Given the description of an element on the screen output the (x, y) to click on. 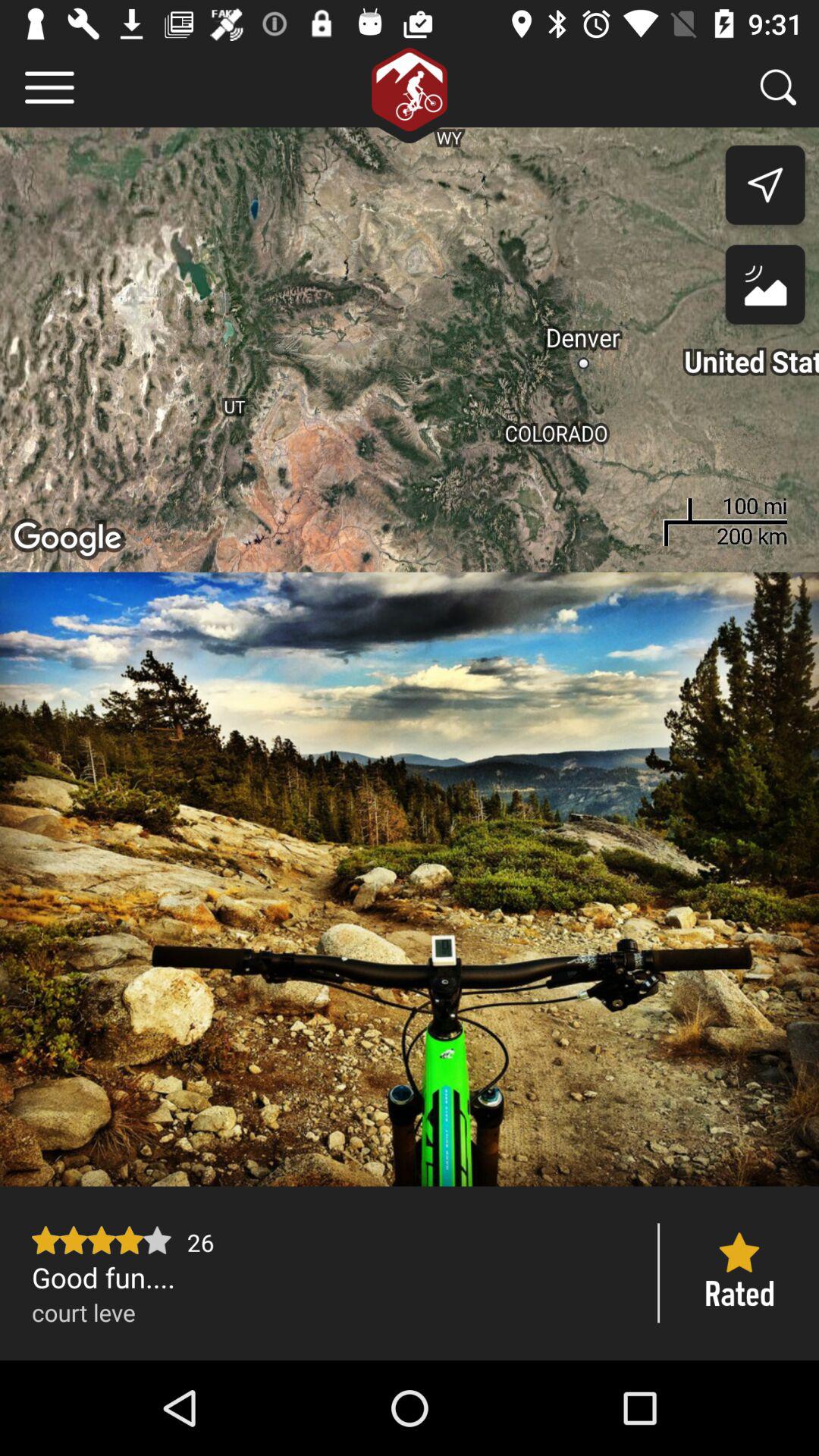
more pictures (409, 879)
